Given the description of an element on the screen output the (x, y) to click on. 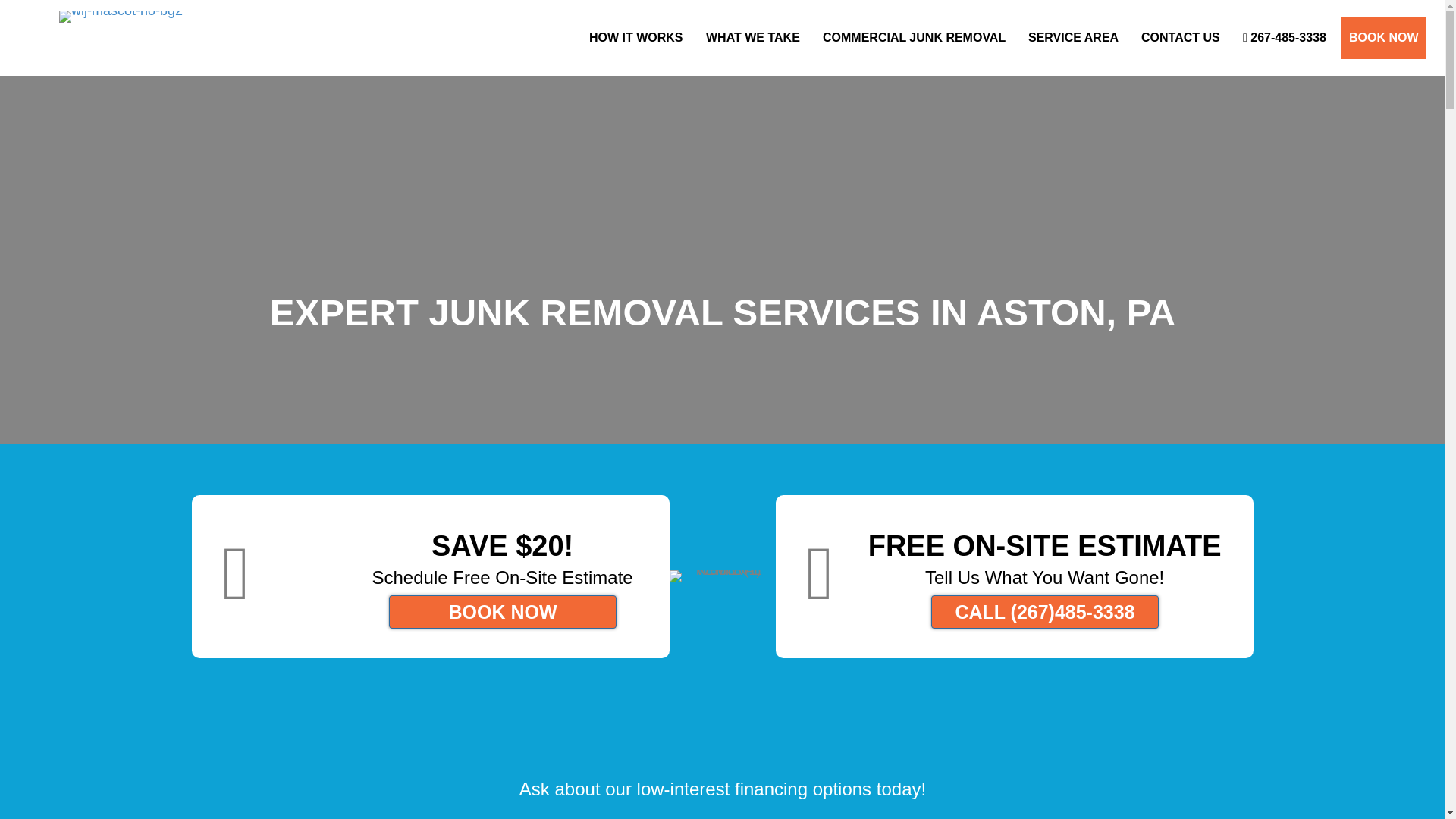
WHAT WE TAKE (753, 37)
COMMERCIAL JUNK REMOVAL (912, 37)
HOW IT WORKS (635, 37)
CONTACT US (1180, 37)
BOOK NOW (1382, 37)
267-485-3338 (1283, 37)
SERVICE AREA (1072, 37)
wlj-mascot-no-bg2 (121, 16)
